Given the description of an element on the screen output the (x, y) to click on. 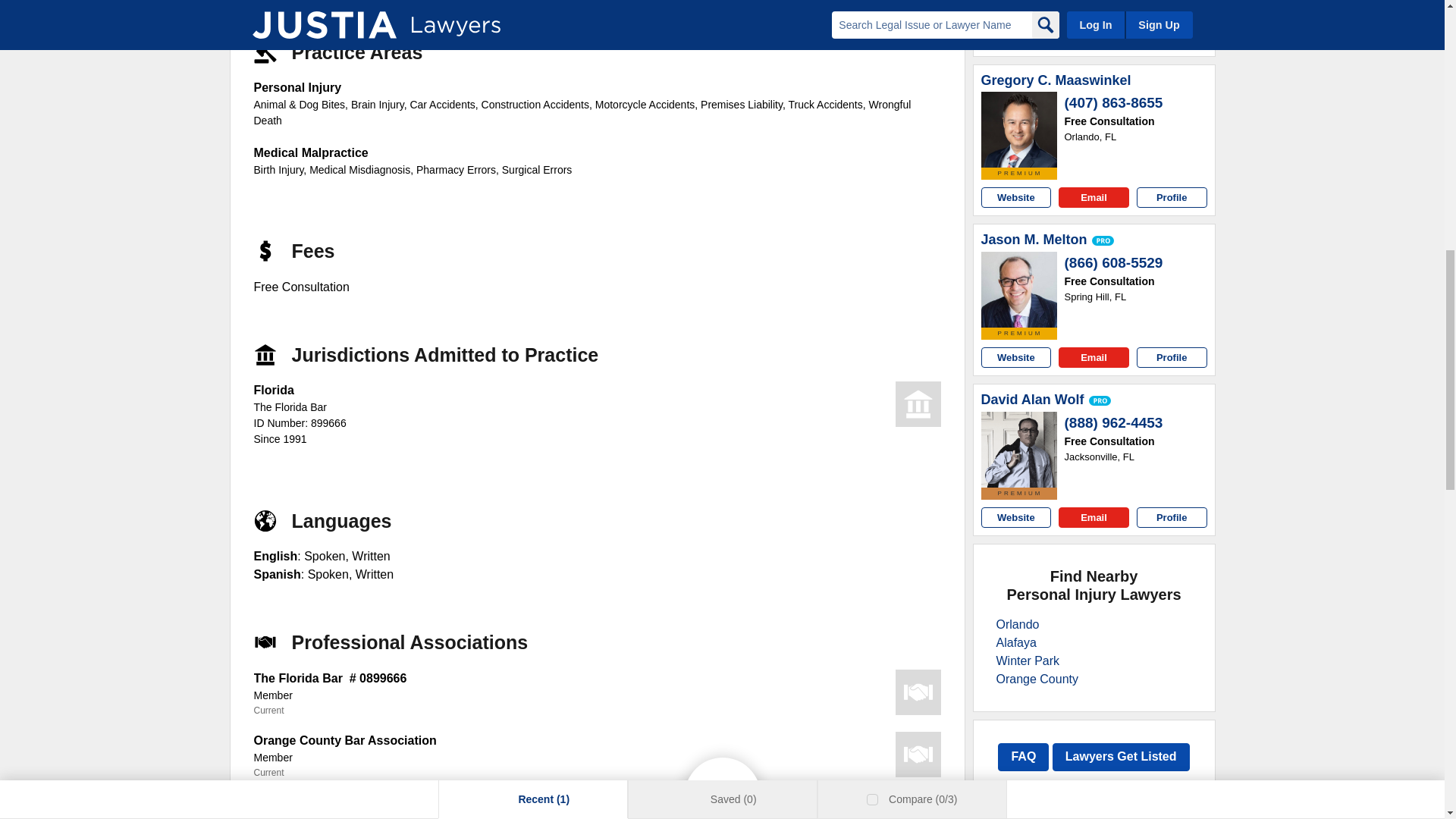
Gregory C. Maaswinkel (1019, 129)
Jason M. Melton (1019, 289)
Gregory C. Maaswinkel (1056, 80)
Nicholas Spetsas (1019, 4)
Jason M. Melton (1034, 239)
